Given the description of an element on the screen output the (x, y) to click on. 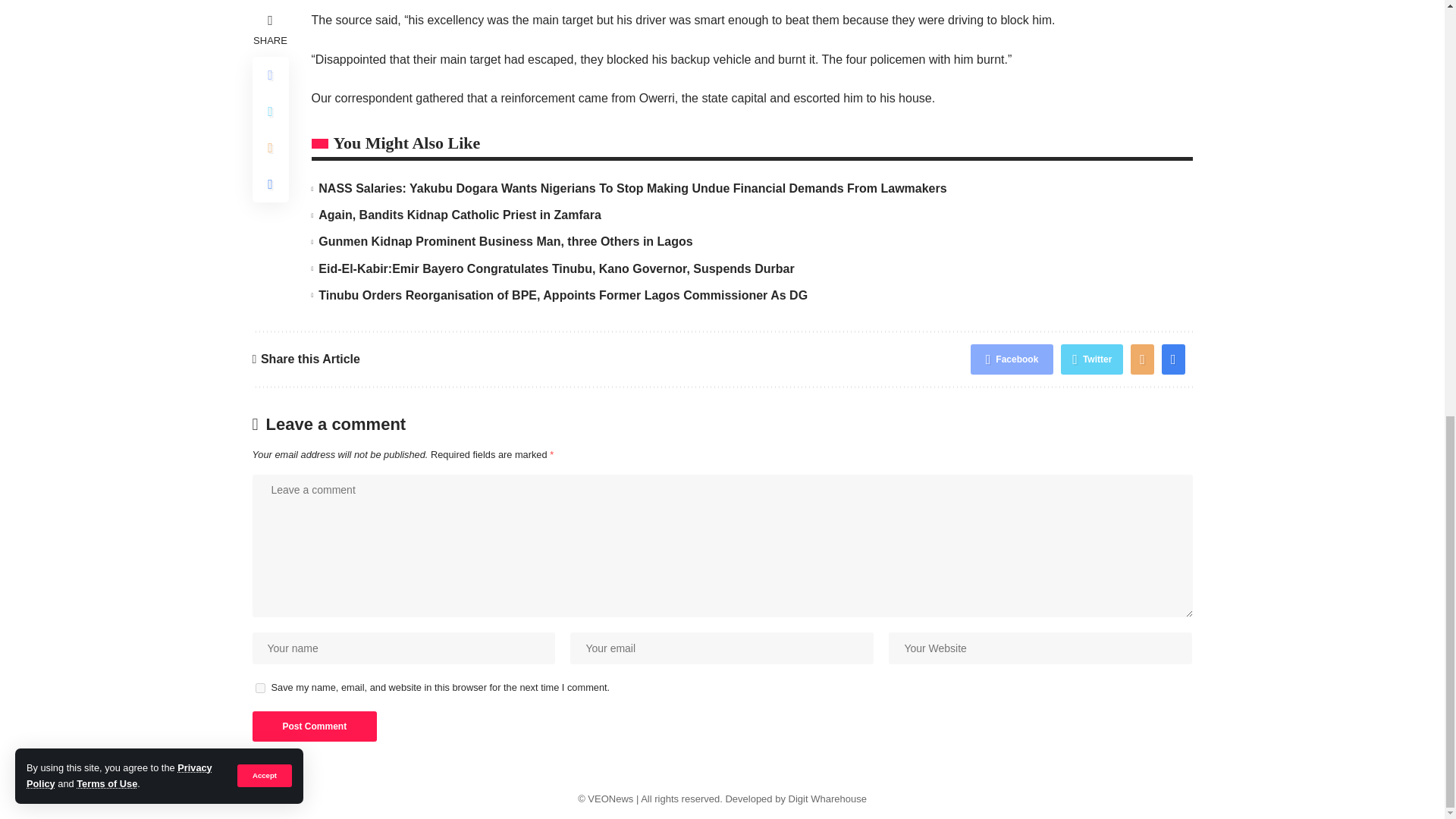
yes (259, 687)
Post Comment (314, 726)
